Given the description of an element on the screen output the (x, y) to click on. 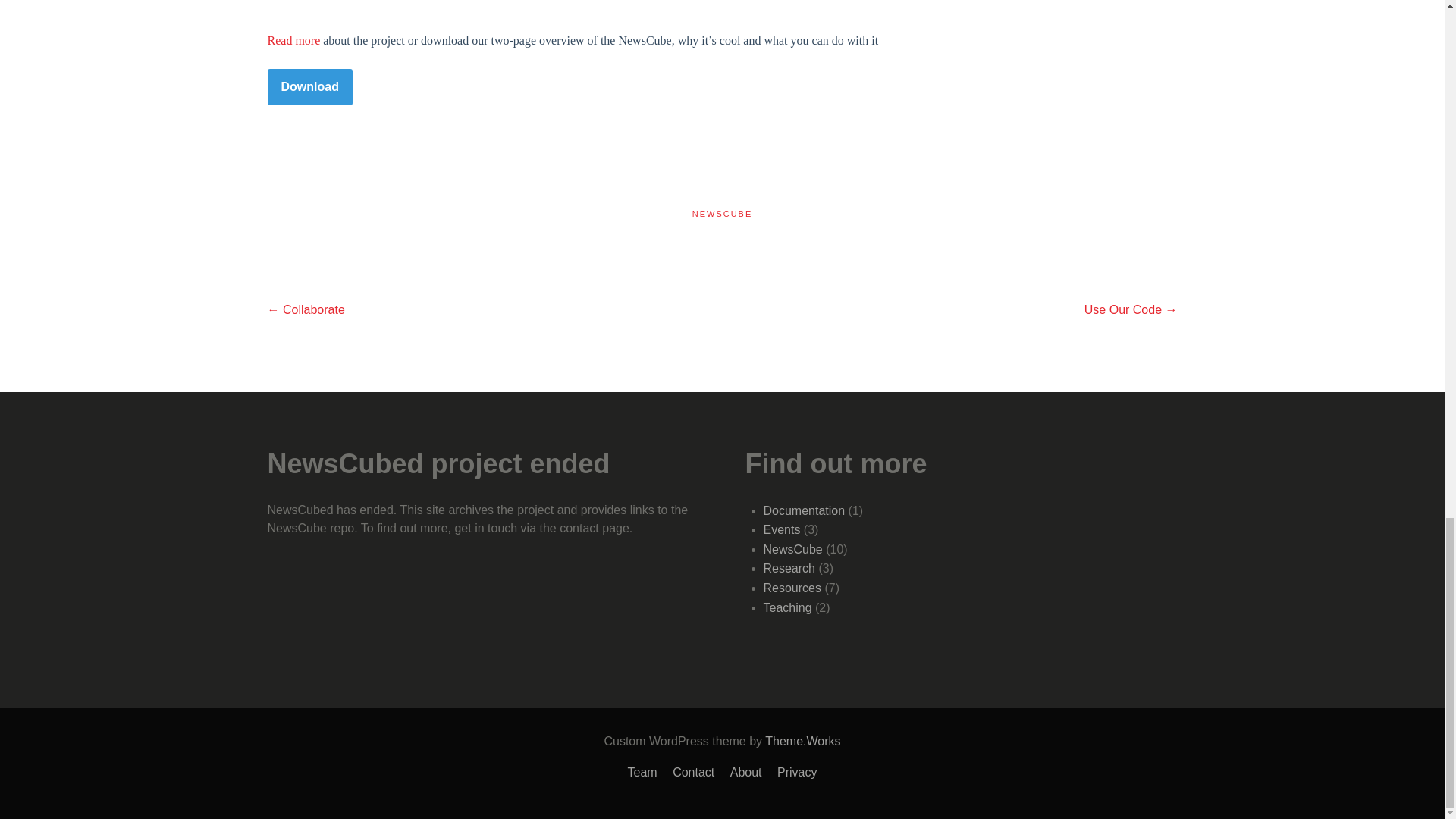
NEWSCUBE (722, 213)
Download (309, 86)
NewsCube (792, 549)
Read more (293, 40)
Teaching (786, 607)
Theme.Works (802, 740)
Events (780, 529)
Research (787, 567)
About (745, 771)
Documentation (803, 510)
Contact (693, 771)
Team (642, 771)
Resources (791, 587)
Privacy (796, 771)
